Given the description of an element on the screen output the (x, y) to click on. 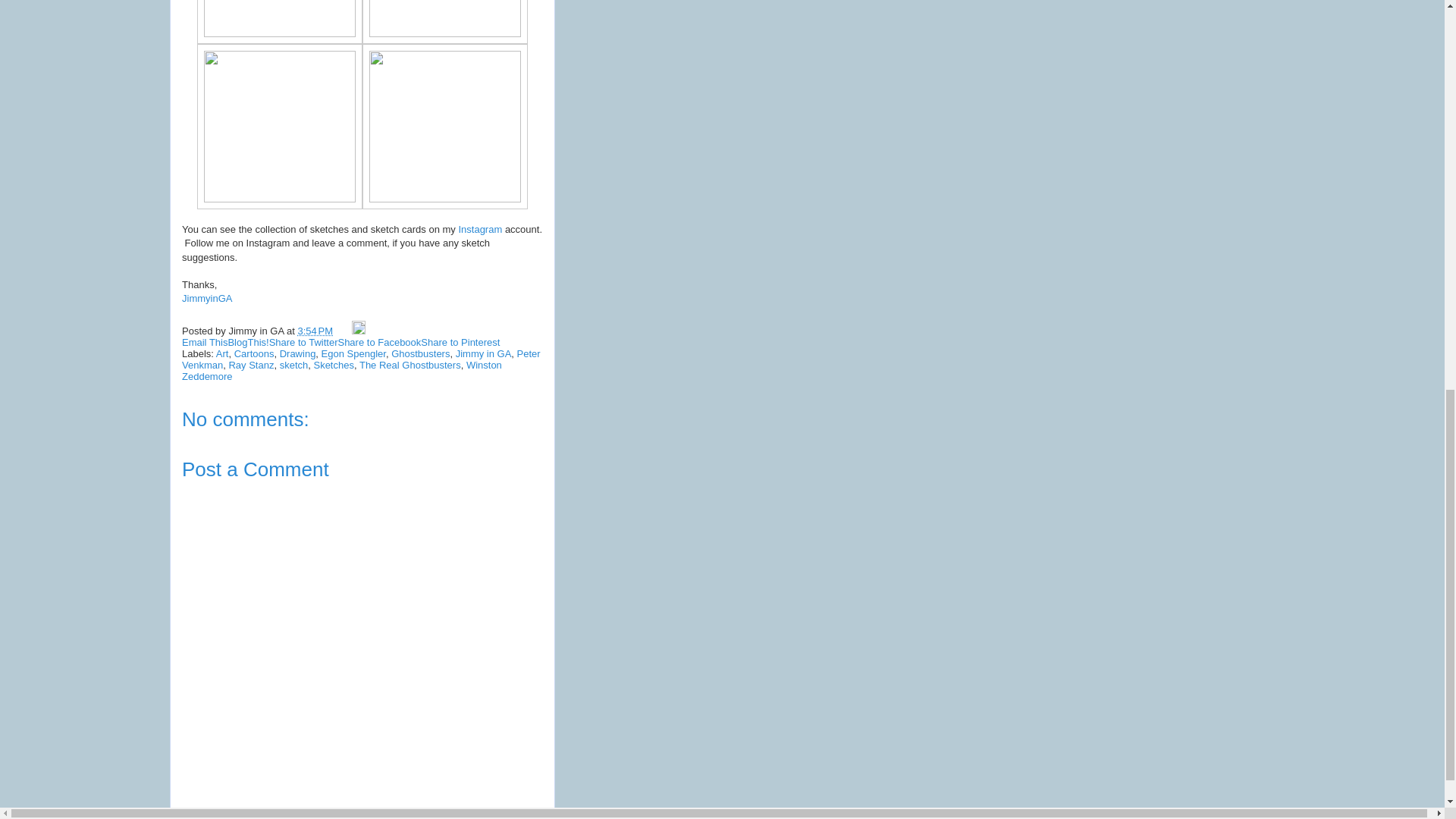
Instagram (480, 229)
Ray Stanz (250, 365)
Winston Zeddemore (342, 370)
Drawing (297, 353)
permanent link (315, 330)
Email This (204, 342)
Share to Facebook (378, 342)
BlogThis! (247, 342)
Ghostbusters (420, 353)
The Real Ghostbusters (410, 365)
